Given the description of an element on the screen output the (x, y) to click on. 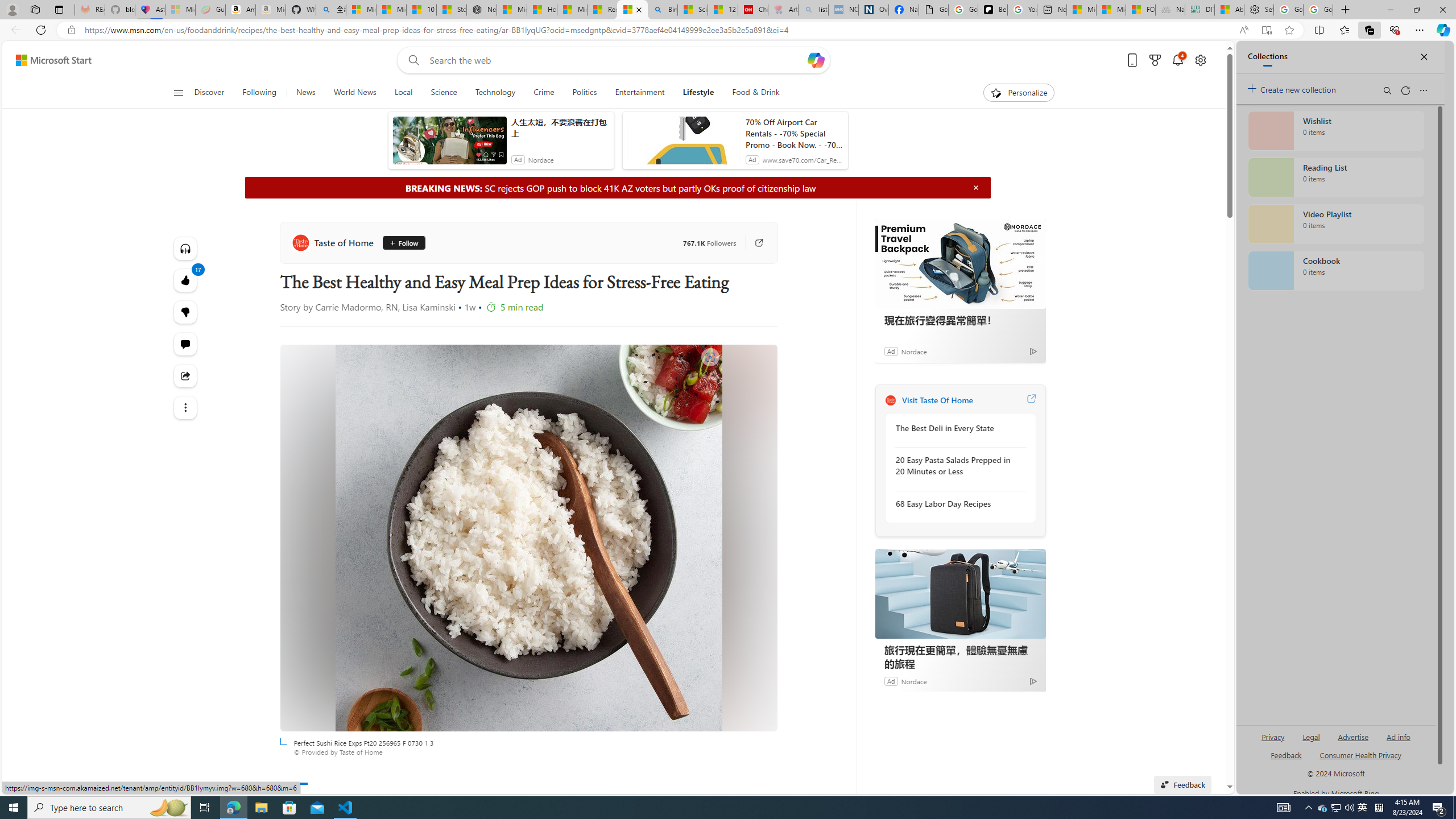
17 (184, 312)
Crime (543, 92)
Asthma Inhalers: Names and Types (149, 9)
Politics (584, 92)
Arthritis: Ask Health Professionals - Sleeping (782, 9)
Entertainment (639, 92)
World News (354, 92)
